Given the description of an element on the screen output the (x, y) to click on. 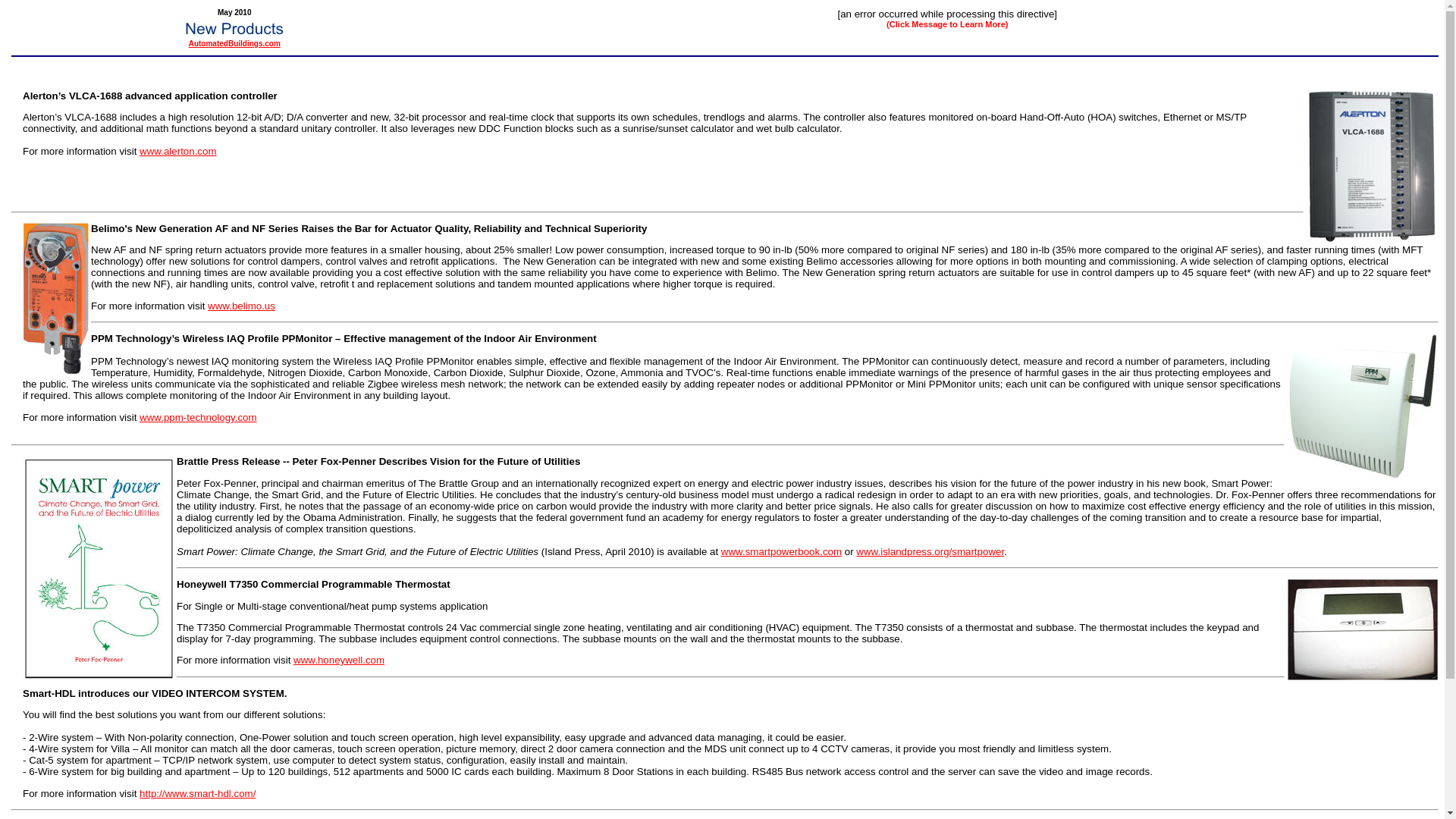
www.ppm-technology.com (198, 417)
www.smartpowerbook.com (780, 551)
www.belimo.us (241, 306)
AutomatedBuildings.com (235, 43)
www.alerton.com (177, 151)
www.honeywell.com (339, 659)
